Given the description of an element on the screen output the (x, y) to click on. 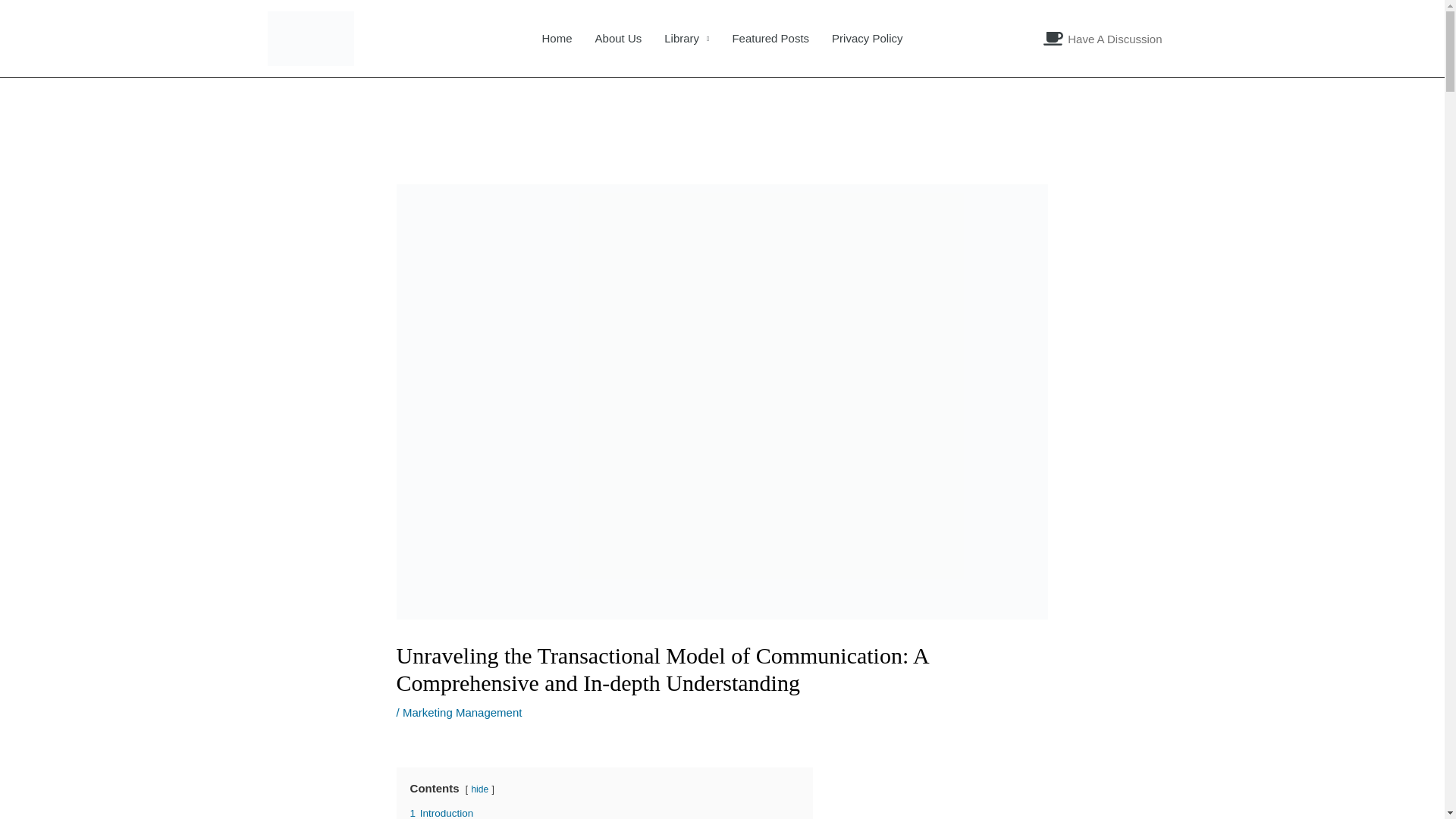
Library (686, 38)
Featured Posts (770, 38)
hide (478, 788)
About Us (618, 38)
Marketing Management (462, 712)
Have A Discussion (1101, 38)
1 Introduction (442, 813)
Privacy Policy (867, 38)
Home (557, 38)
